Given the description of an element on the screen output the (x, y) to click on. 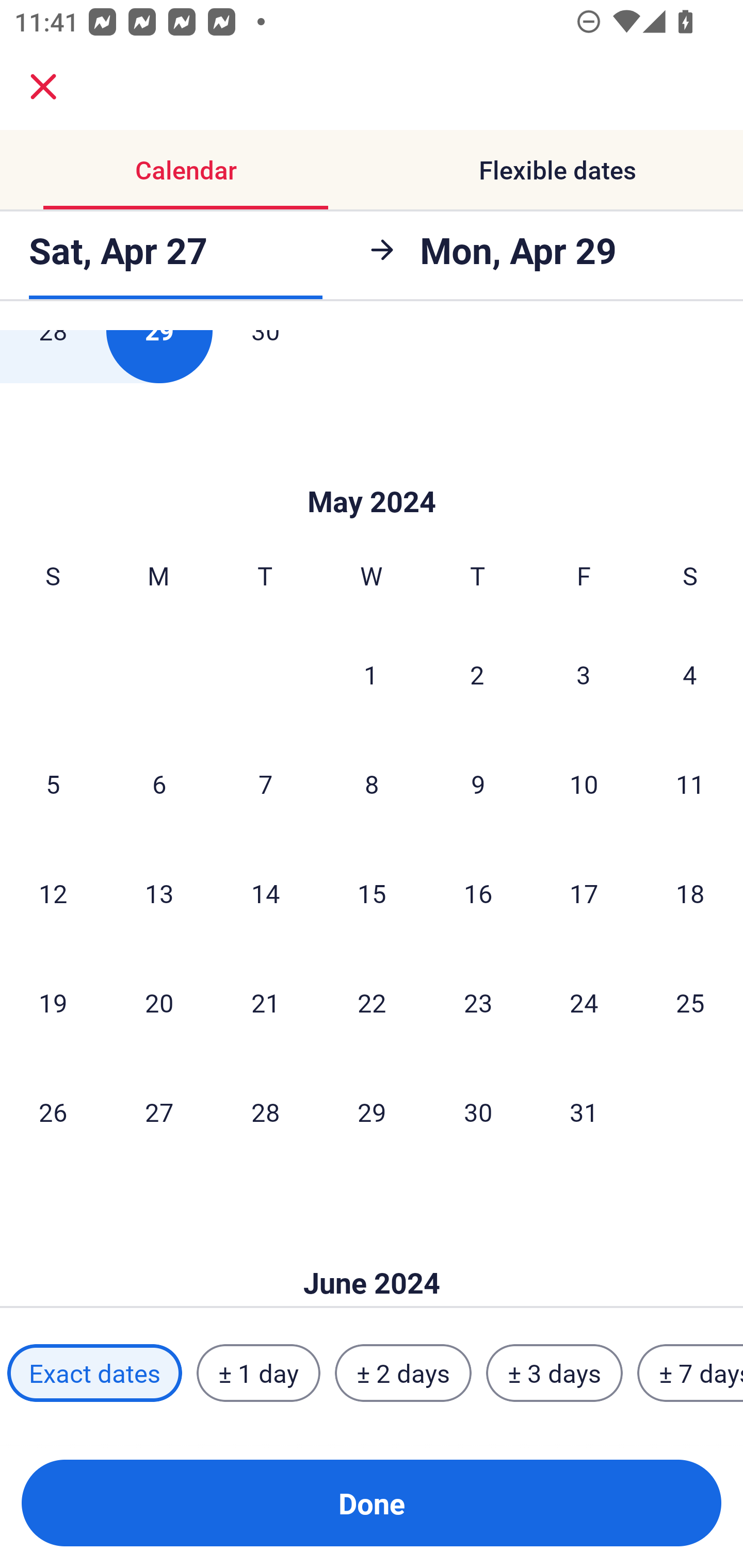
close. (43, 86)
Flexible dates (557, 170)
Skip to Done (371, 471)
1 Wednesday, May 1, 2024 (371, 673)
2 Thursday, May 2, 2024 (477, 673)
3 Friday, May 3, 2024 (583, 673)
4 Saturday, May 4, 2024 (689, 673)
5 Sunday, May 5, 2024 (53, 783)
6 Monday, May 6, 2024 (159, 783)
7 Tuesday, May 7, 2024 (265, 783)
8 Wednesday, May 8, 2024 (371, 783)
9 Thursday, May 9, 2024 (477, 783)
10 Friday, May 10, 2024 (584, 783)
11 Saturday, May 11, 2024 (690, 783)
12 Sunday, May 12, 2024 (53, 892)
13 Monday, May 13, 2024 (159, 892)
14 Tuesday, May 14, 2024 (265, 892)
15 Wednesday, May 15, 2024 (371, 892)
16 Thursday, May 16, 2024 (477, 892)
17 Friday, May 17, 2024 (584, 892)
18 Saturday, May 18, 2024 (690, 892)
19 Sunday, May 19, 2024 (53, 1002)
20 Monday, May 20, 2024 (159, 1002)
21 Tuesday, May 21, 2024 (265, 1002)
22 Wednesday, May 22, 2024 (371, 1002)
23 Thursday, May 23, 2024 (477, 1002)
24 Friday, May 24, 2024 (584, 1002)
25 Saturday, May 25, 2024 (690, 1002)
26 Sunday, May 26, 2024 (53, 1111)
27 Monday, May 27, 2024 (159, 1111)
28 Tuesday, May 28, 2024 (265, 1111)
29 Wednesday, May 29, 2024 (371, 1111)
30 Thursday, May 30, 2024 (477, 1111)
31 Friday, May 31, 2024 (584, 1111)
Skip to Done (371, 1251)
Exact dates (94, 1372)
± 1 day (258, 1372)
± 2 days (403, 1372)
± 3 days (553, 1372)
± 7 days (690, 1372)
Done (371, 1502)
